Given the description of an element on the screen output the (x, y) to click on. 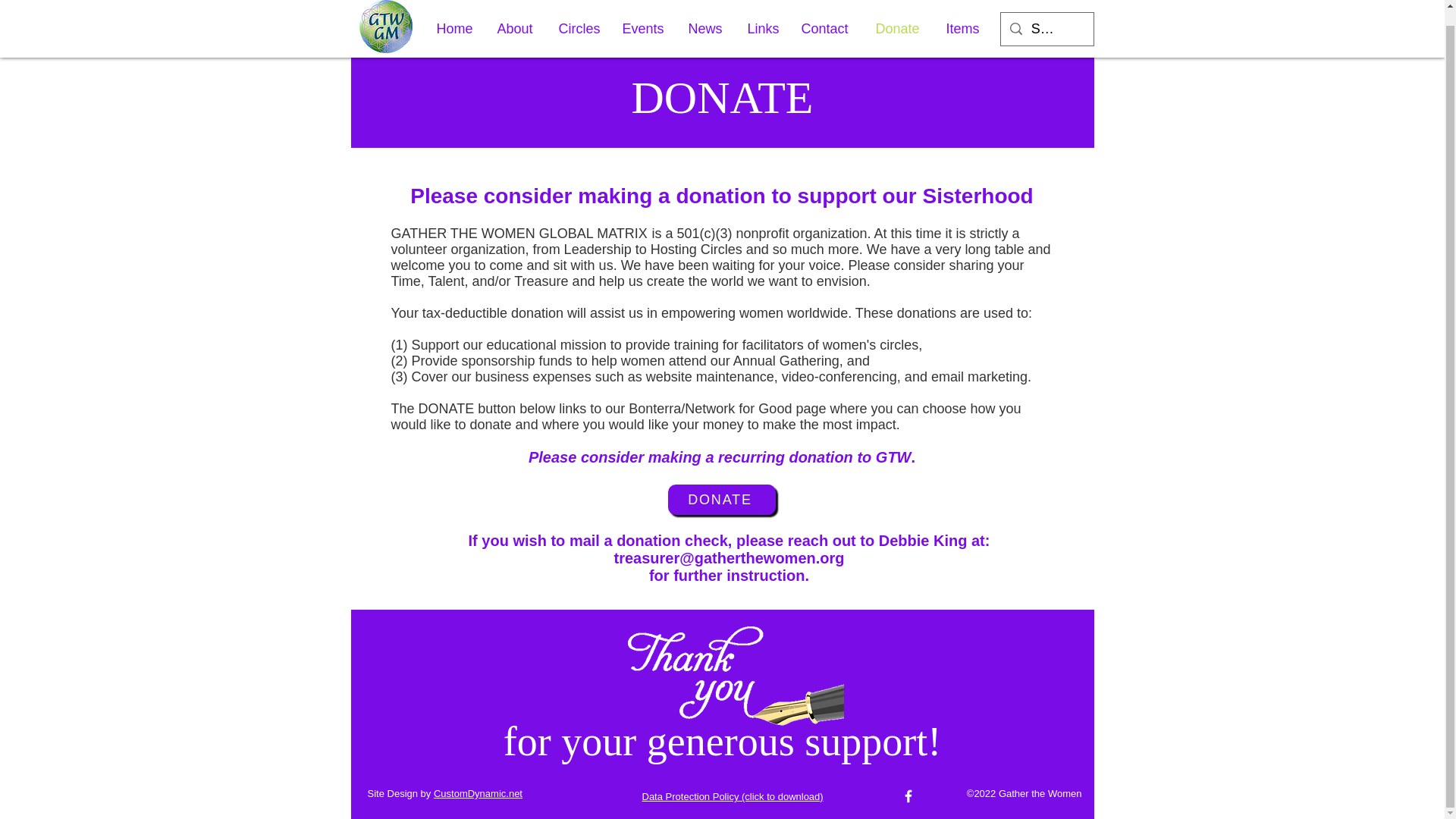
Events (644, 14)
CustomDynamic.net (477, 793)
Items (963, 14)
About (515, 14)
Links (762, 14)
DONATE (720, 499)
Circles (579, 14)
Contact (827, 14)
Image - Pen Writing Thank You (729, 679)
News (706, 14)
